Given the description of an element on the screen output the (x, y) to click on. 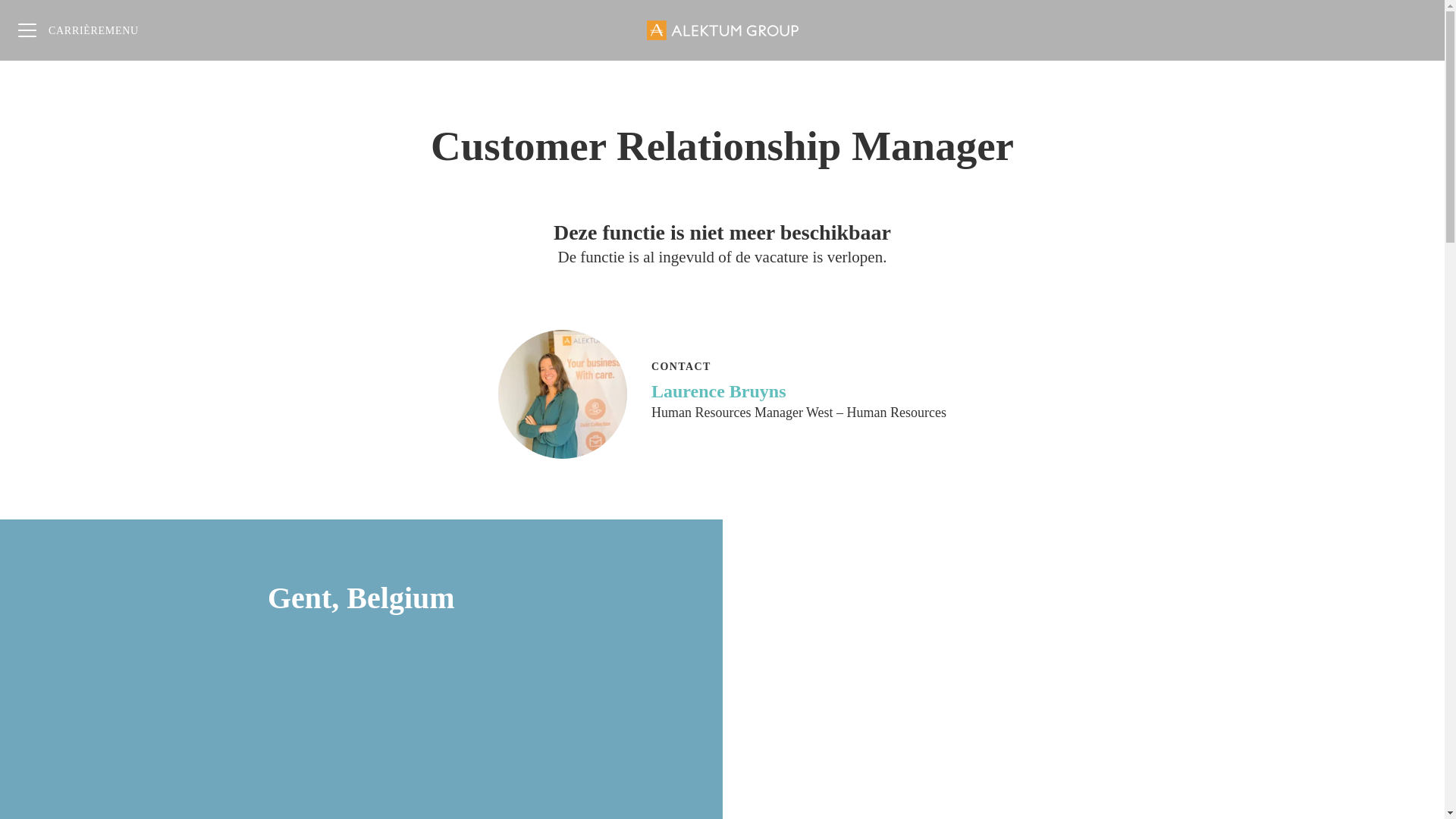
Pagina delen Element type: hover (1414, 30)
Laurence Bruyns Element type: text (798, 390)
